Given the description of an element on the screen output the (x, y) to click on. 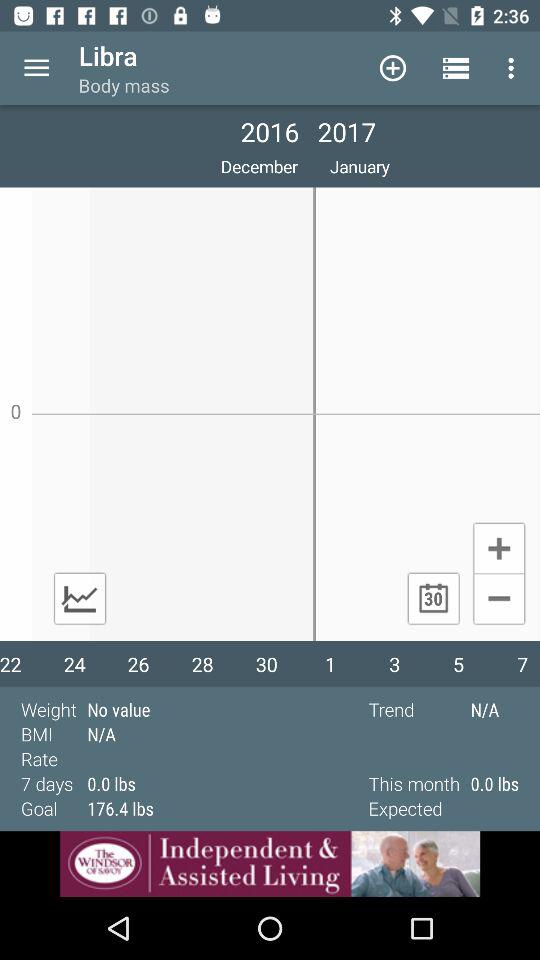
minus number (498, 599)
